Given the description of an element on the screen output the (x, y) to click on. 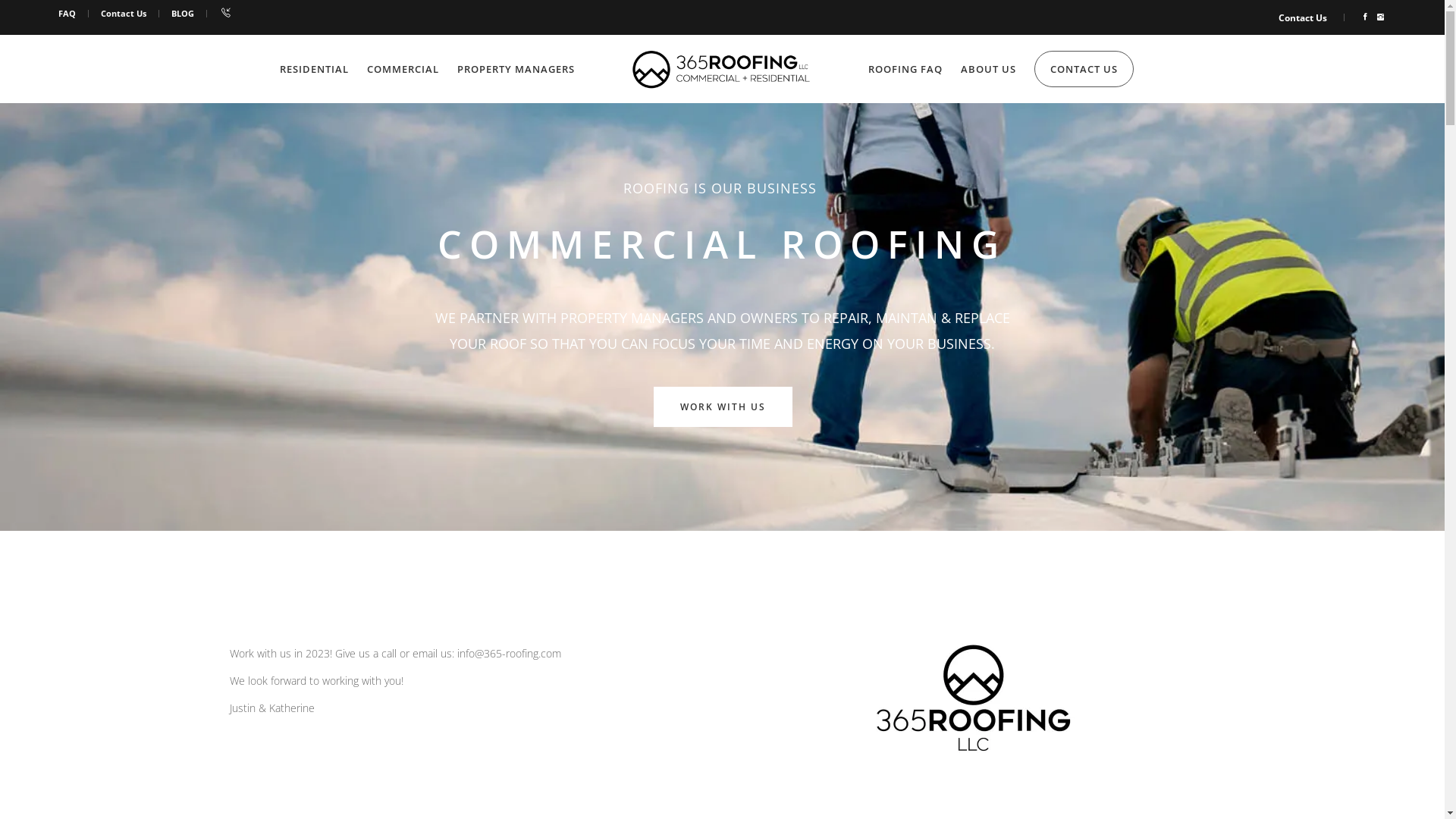
Instagram Element type: text (996, 526)
PROPERTY MANAGERS Element type: text (515, 68)
info@365-roofing.com Element type: text (1034, 583)
CONTACT US Element type: text (1083, 68)
BLOG Element type: text (182, 12)
Prev Element type: text (529, 609)
ABOUT US Element type: text (987, 68)
Web Services Management - Dedicated to YOUR Success Element type: text (954, 792)
ROOFING FAQ Element type: text (904, 68)
970-749-2335 Element type: text (1007, 498)
Facebook Element type: text (993, 554)
FAQ Element type: text (66, 12)
COMMERCIAL Element type: text (402, 68)
Next Element type: text (915, 609)
RESIDENTIAL Element type: text (313, 68)
Contact Us Element type: text (123, 12)
Contact Us Element type: text (1302, 16)
Leave us a review! Element type: text (721, 719)
